Given the description of an element on the screen output the (x, y) to click on. 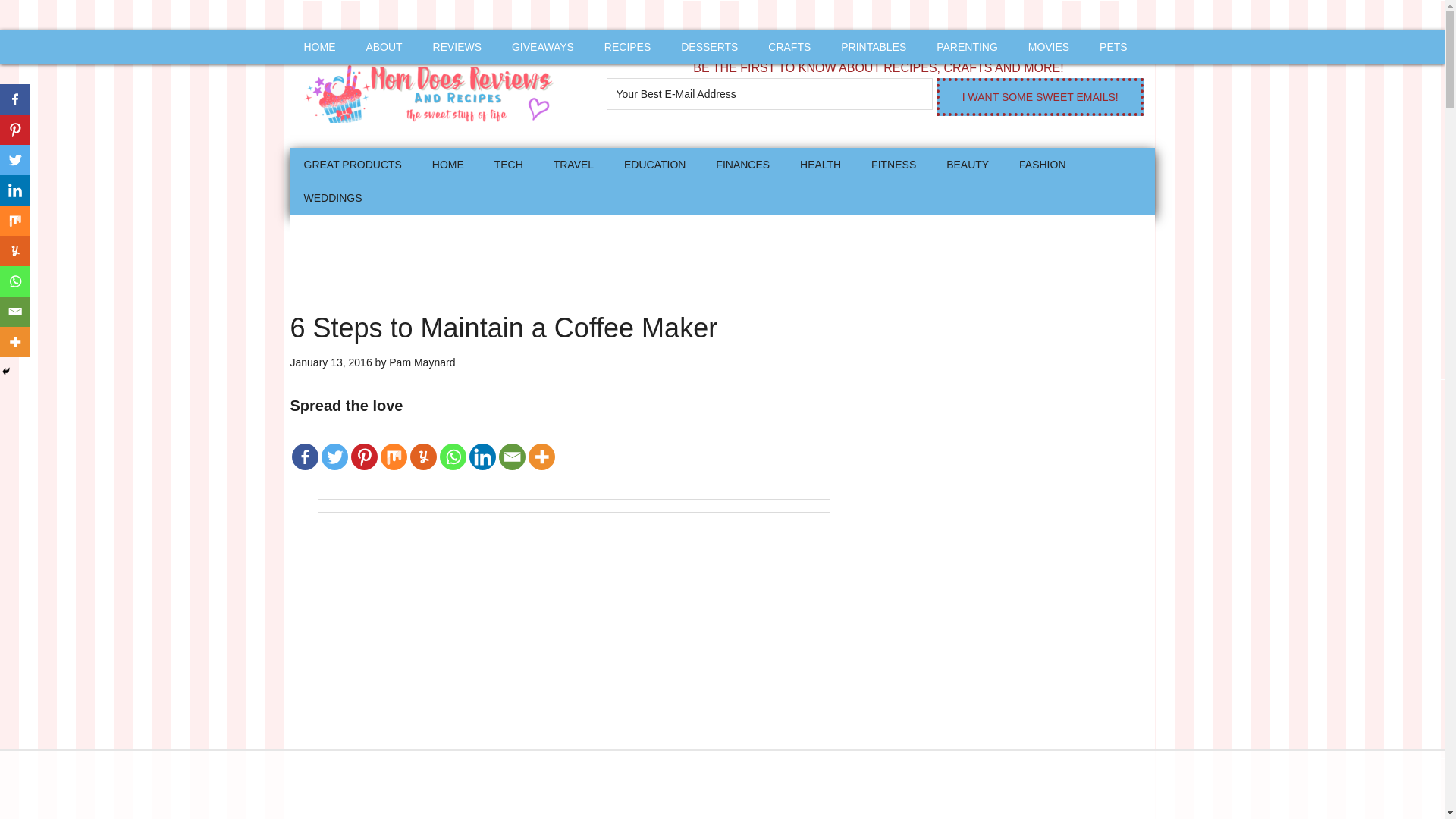
review (457, 46)
REVIEWS (457, 46)
HOME (319, 46)
EDUCATION (654, 164)
FASHION (1042, 164)
I want some Sweet Emails! (1039, 96)
RECIPES (627, 46)
Home (448, 164)
Giveaways (542, 46)
GREAT PRODUCTS (351, 164)
